Given the description of an element on the screen output the (x, y) to click on. 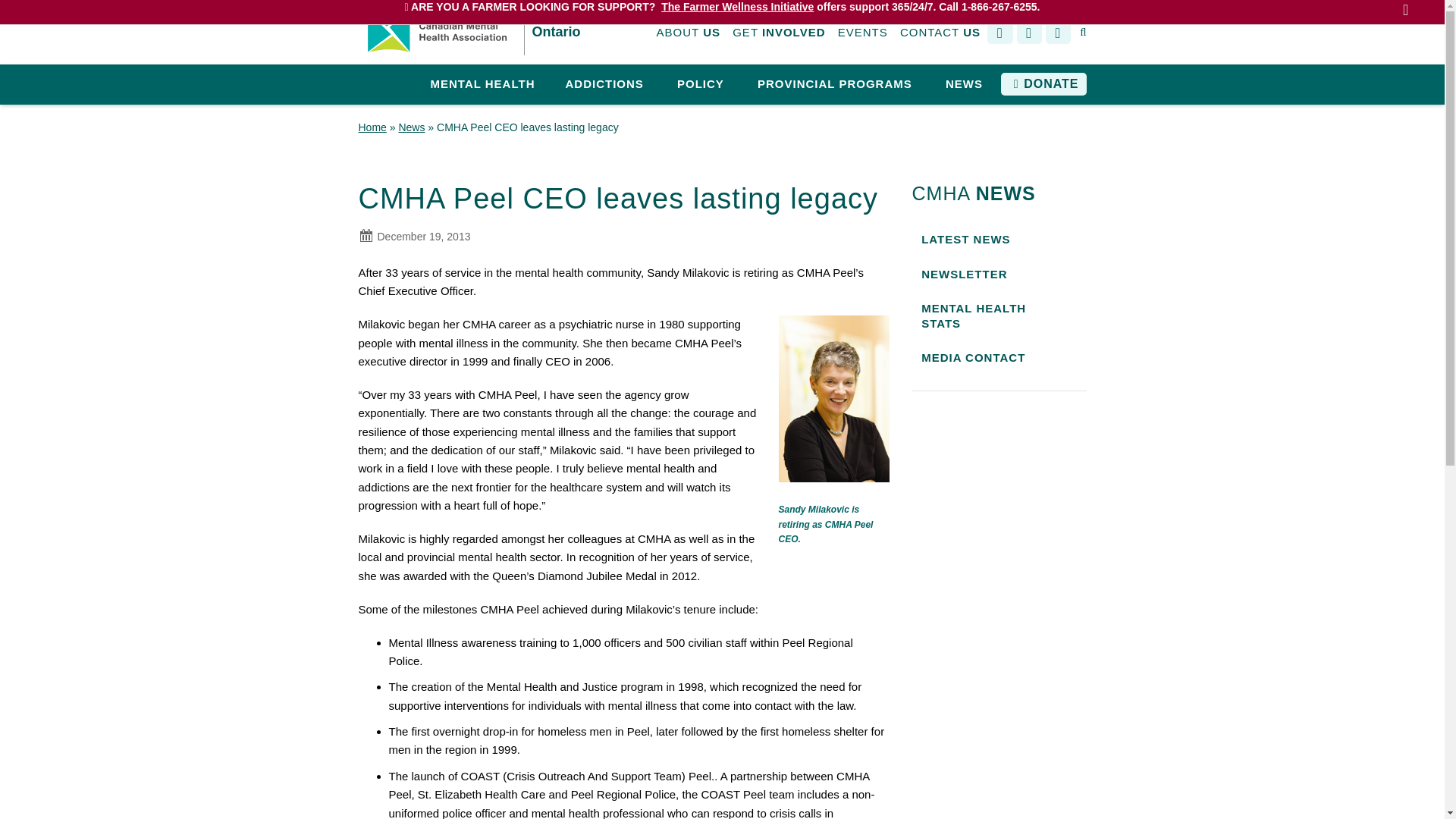
ABOUT US (688, 32)
CONTACT US (939, 32)
EVENTS (863, 32)
The Farmer Wellness Initiative (737, 6)
POLICY (700, 84)
Go to News. (411, 127)
MENTAL HEALTH (482, 84)
Go to Home. (371, 127)
ADDICTIONS (604, 84)
